Given the description of an element on the screen output the (x, y) to click on. 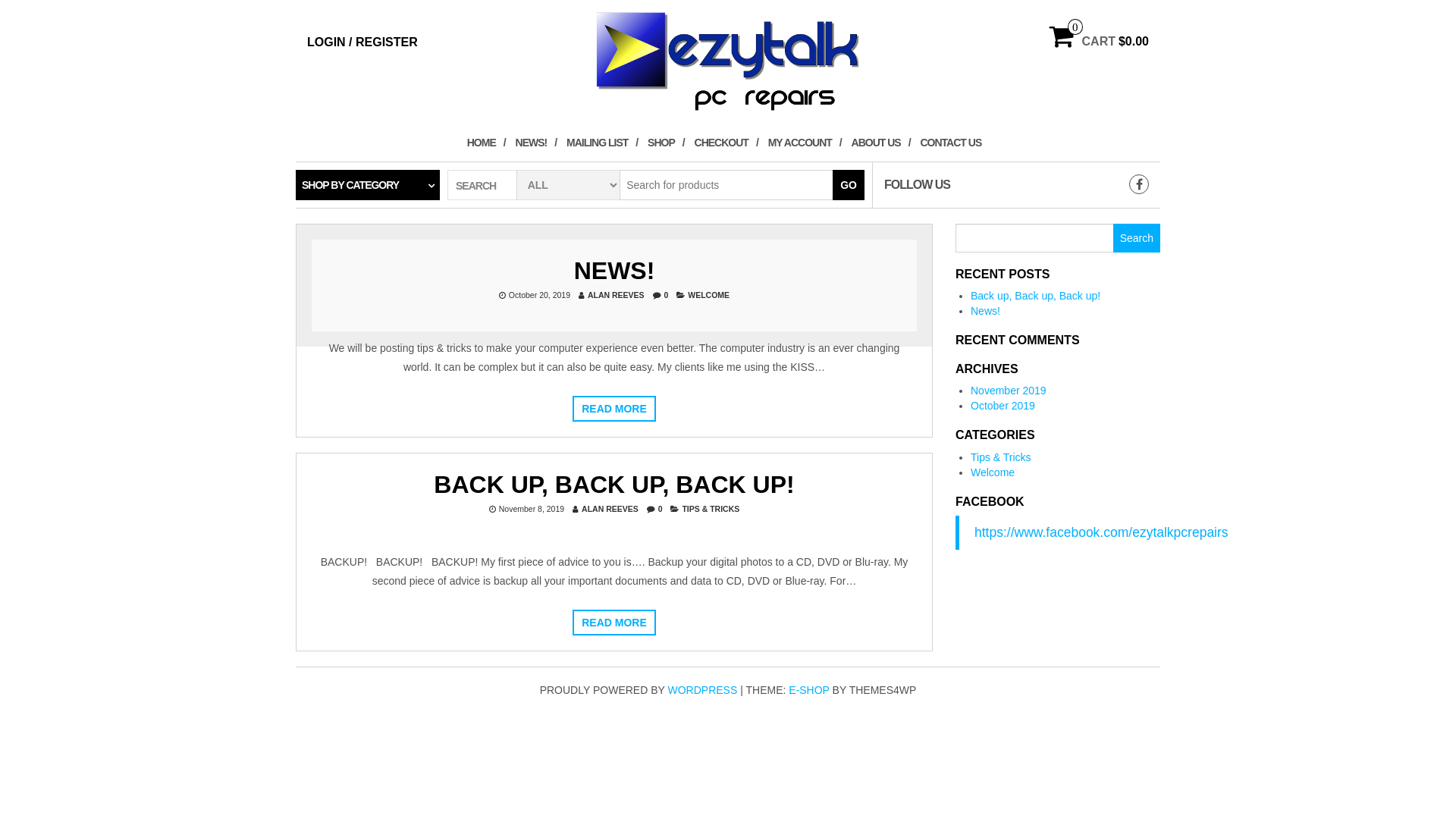
GO Element type: text (848, 184)
0
CART $0.00 Element type: text (1098, 41)
NEWS! Element type: text (536, 141)
ALAN REEVES Element type: text (609, 508)
October 2019 Element type: text (1002, 405)
CHECKOUT Element type: text (726, 141)
Back up, Back up, Back up! Element type: text (1035, 295)
BACK UP, BACK UP, BACK UP! Element type: text (613, 484)
LOGIN / REGISTER Element type: text (362, 41)
https://www.facebook.com/ezytalkpcrepairs Element type: text (1101, 531)
MY ACCOUNT Element type: text (804, 141)
Welcome Element type: text (992, 472)
E-SHOP Element type: text (808, 690)
READ MORE Element type: text (613, 622)
MAILING LIST Element type: text (601, 141)
ABOUT US Element type: text (880, 141)
CONTACT US Element type: text (954, 141)
WORDPRESS Element type: text (702, 690)
HOME Element type: text (486, 141)
November 2019 Element type: text (1008, 390)
WELCOME Element type: text (708, 293)
News! Element type: text (985, 310)
0 Element type: text (666, 293)
SHOP BY CATEGORY Element type: text (367, 184)
NEWS! Element type: text (614, 269)
Search Element type: text (1136, 236)
SHOP Element type: text (665, 141)
0 Element type: text (660, 508)
TIPS & TRICKS Element type: text (710, 508)
ALAN REEVES Element type: text (615, 293)
READ MORE Element type: text (613, 408)
Tips & Tricks Element type: text (1000, 457)
